Given the description of an element on the screen output the (x, y) to click on. 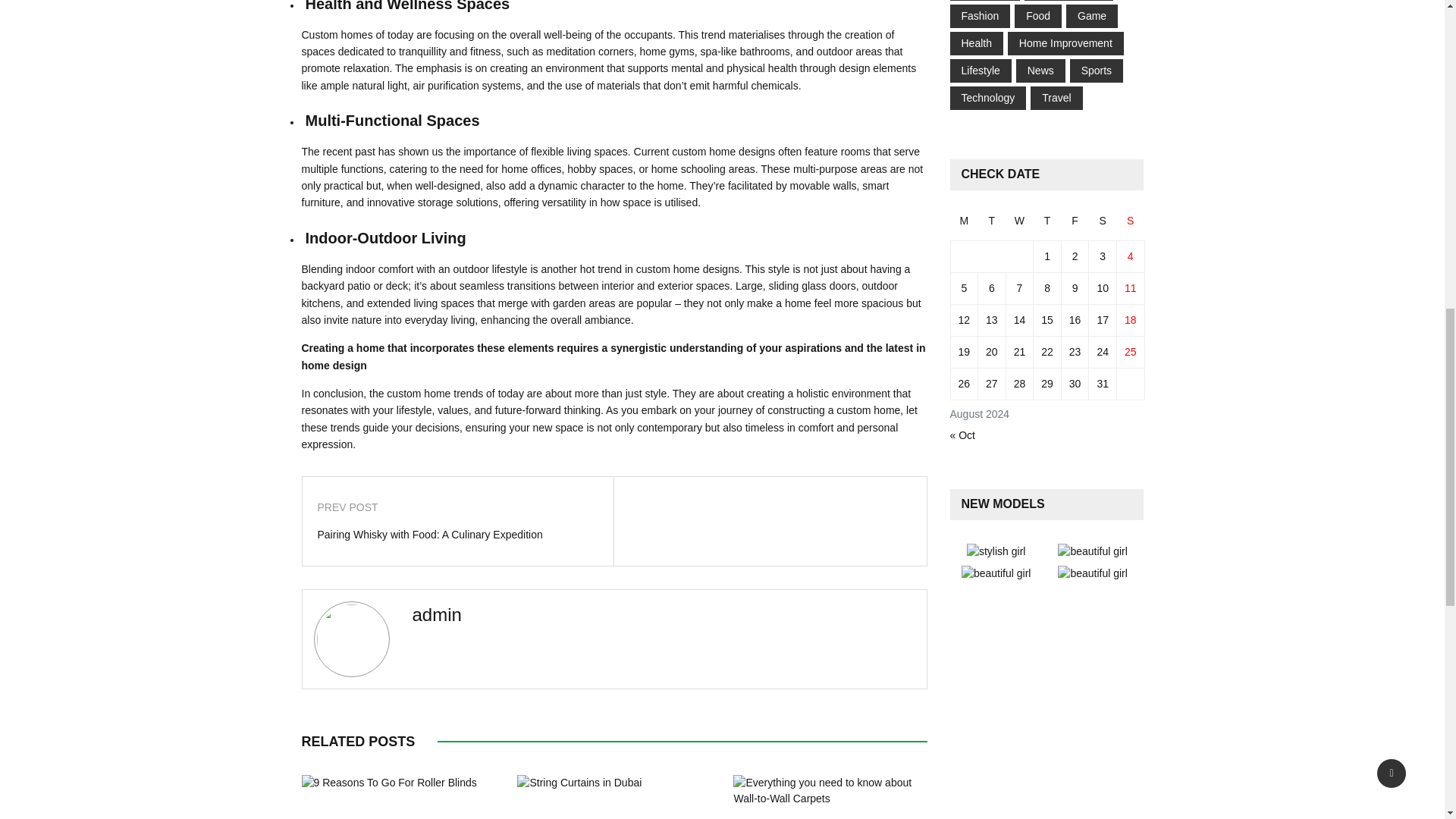
Friday (1075, 226)
Lifestyle (980, 70)
Wednesday (1019, 226)
Saturday (1102, 226)
Tuesday (992, 226)
Thursday (1047, 226)
Food (1037, 15)
News (1040, 70)
Pairing Whisky with Food: A Culinary Expedition (457, 534)
Sunday (1130, 226)
